Given the description of an element on the screen output the (x, y) to click on. 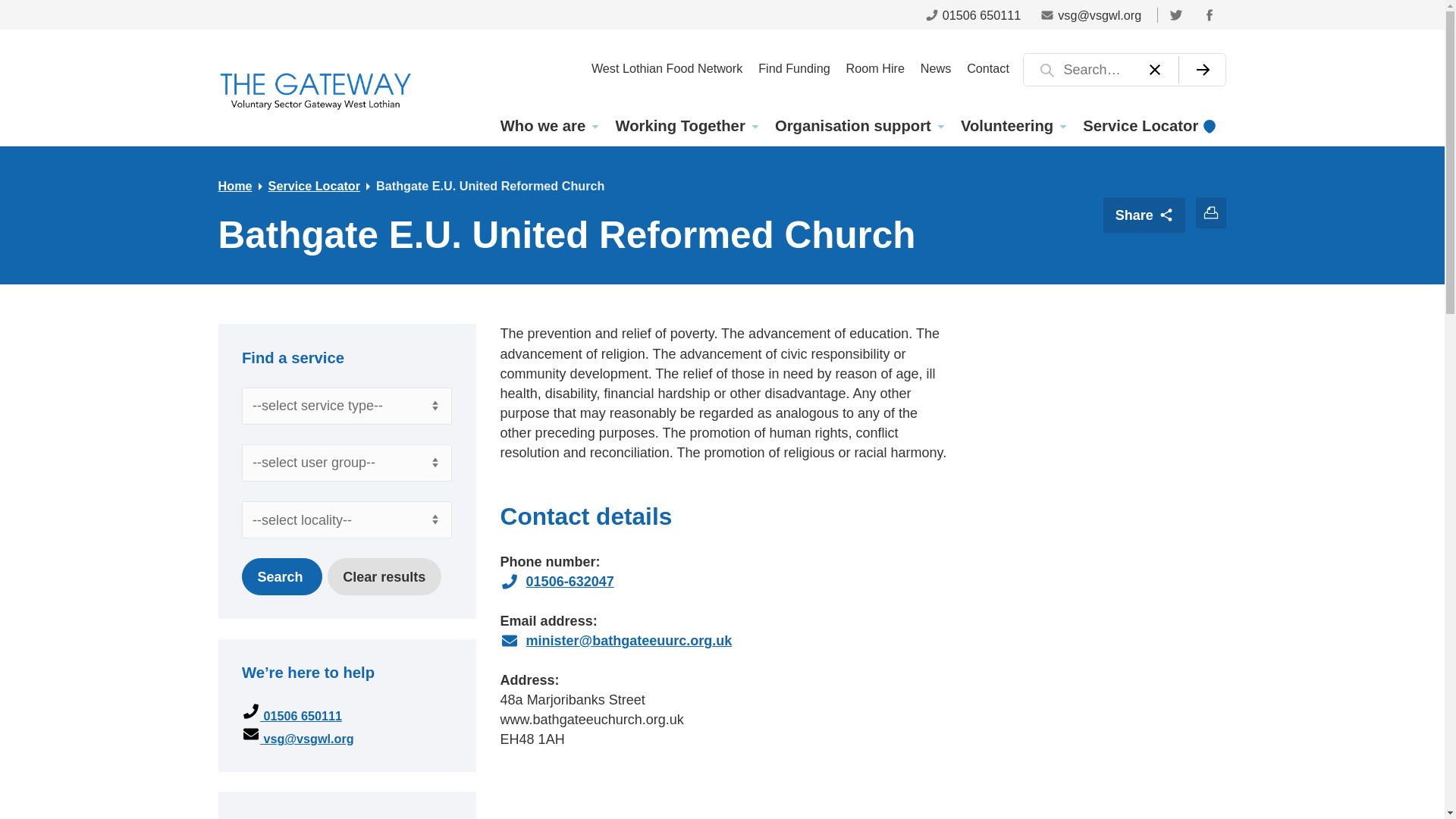
News (935, 67)
Search for (1124, 69)
Find Funding (794, 67)
Contact (988, 67)
Who we are (547, 125)
Organisation support (857, 125)
Facebook (1208, 14)
Search  (281, 576)
01506 650111 (972, 14)
Working Together (685, 125)
